Given the description of an element on the screen output the (x, y) to click on. 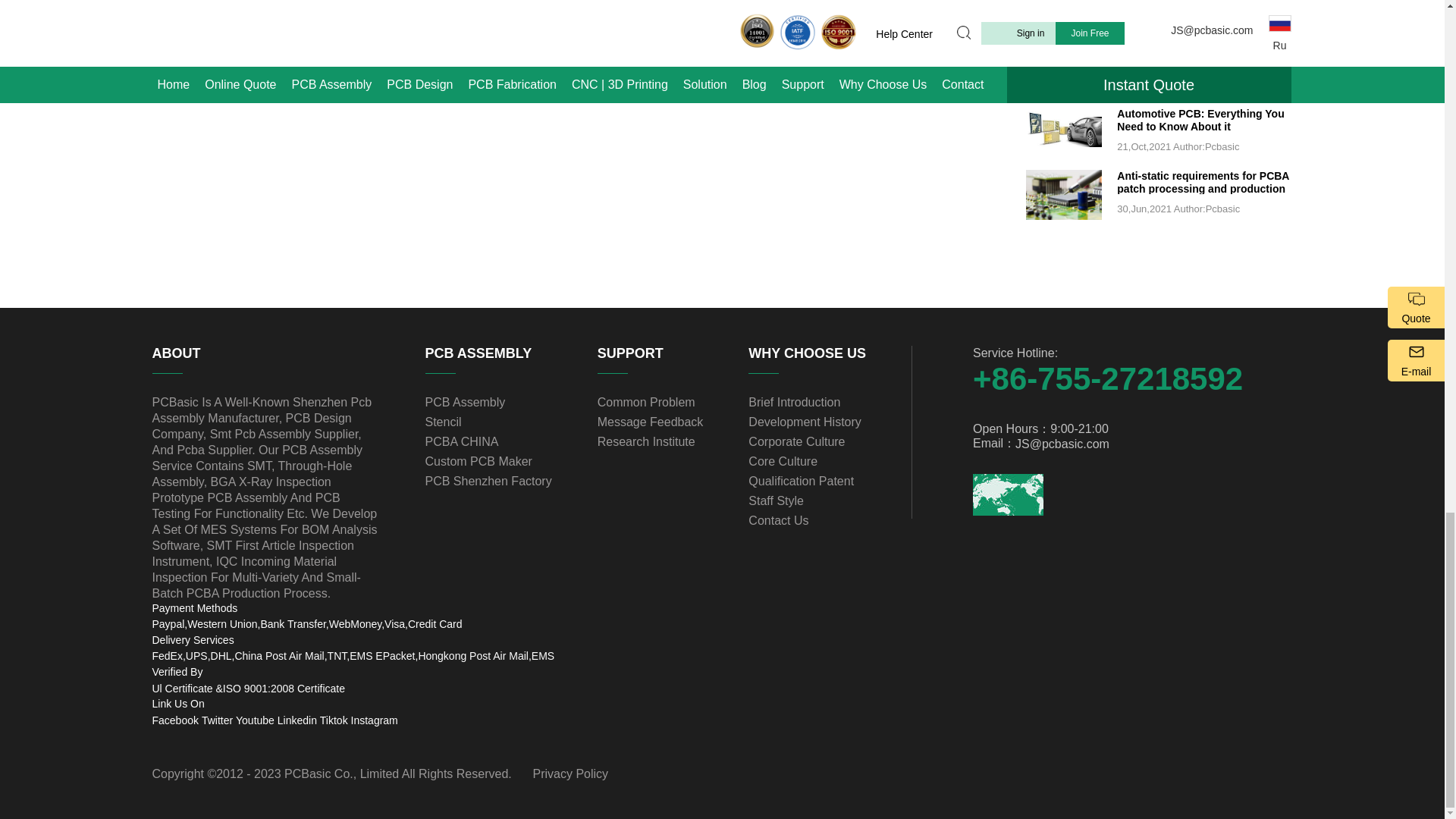
Follow us on linkedin (297, 720)
Follow us on facebook (174, 720)
Follow us on tiktok (333, 720)
Follow us on instagram (373, 720)
Follow us on twitter (217, 720)
Follow us on youtube (255, 720)
